Given the description of an element on the screen output the (x, y) to click on. 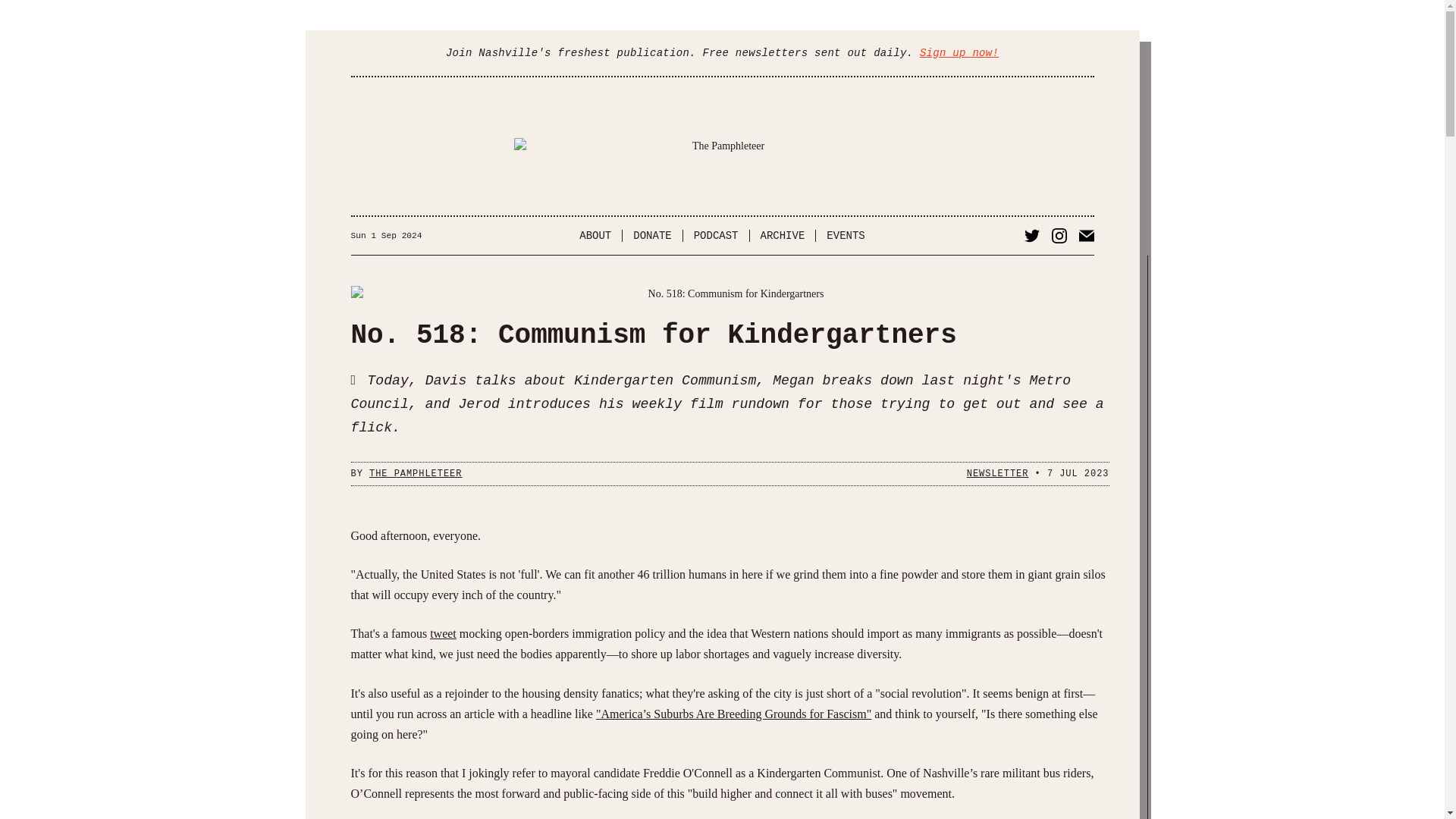
ABOUT (596, 235)
NEWSLETTER (997, 473)
DONATE (652, 235)
ARCHIVE (782, 235)
EVENTS (845, 235)
THE PAMPHLETEER (415, 473)
tweet (443, 633)
PODCAST (715, 235)
Sign up now! (959, 52)
